Given the description of an element on the screen output the (x, y) to click on. 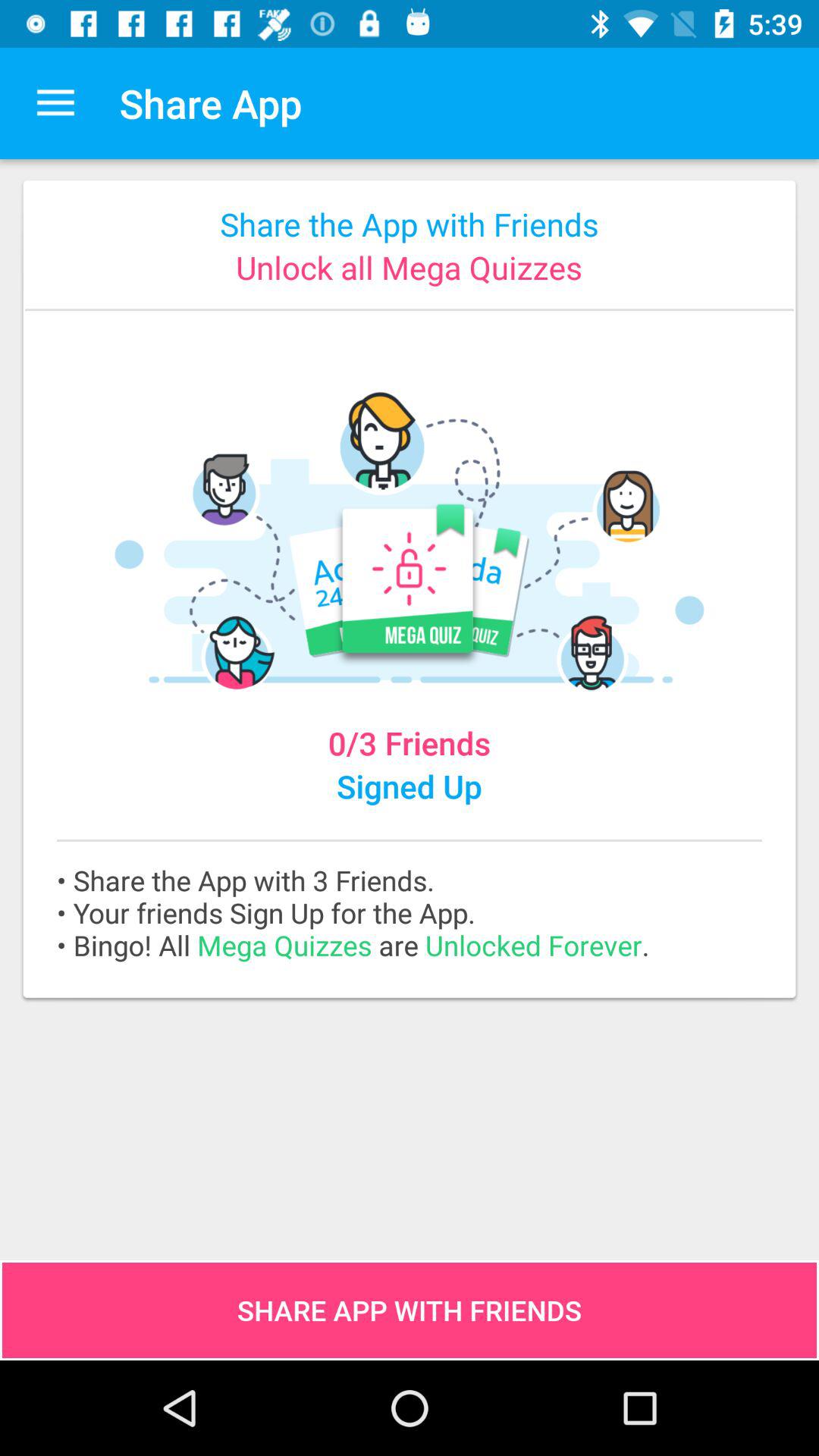
turn off item next to share app icon (55, 103)
